Given the description of an element on the screen output the (x, y) to click on. 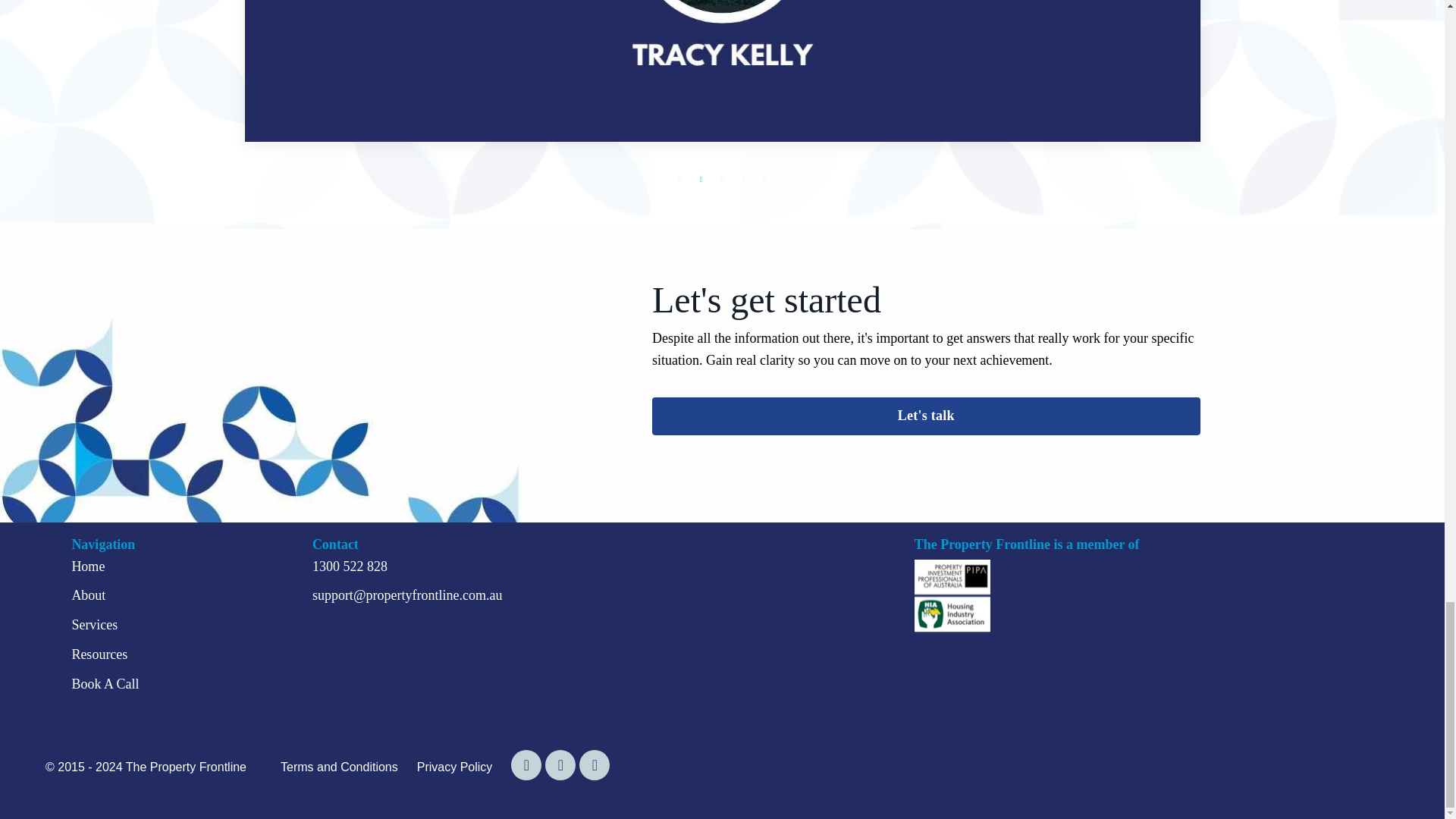
Privacy Policy (454, 766)
Resources (99, 654)
Book A Call (104, 683)
Terms and Conditions (339, 766)
5 (764, 179)
4 (743, 179)
2 (700, 179)
1 (679, 179)
3 (721, 179)
Home (87, 566)
